Given the description of an element on the screen output the (x, y) to click on. 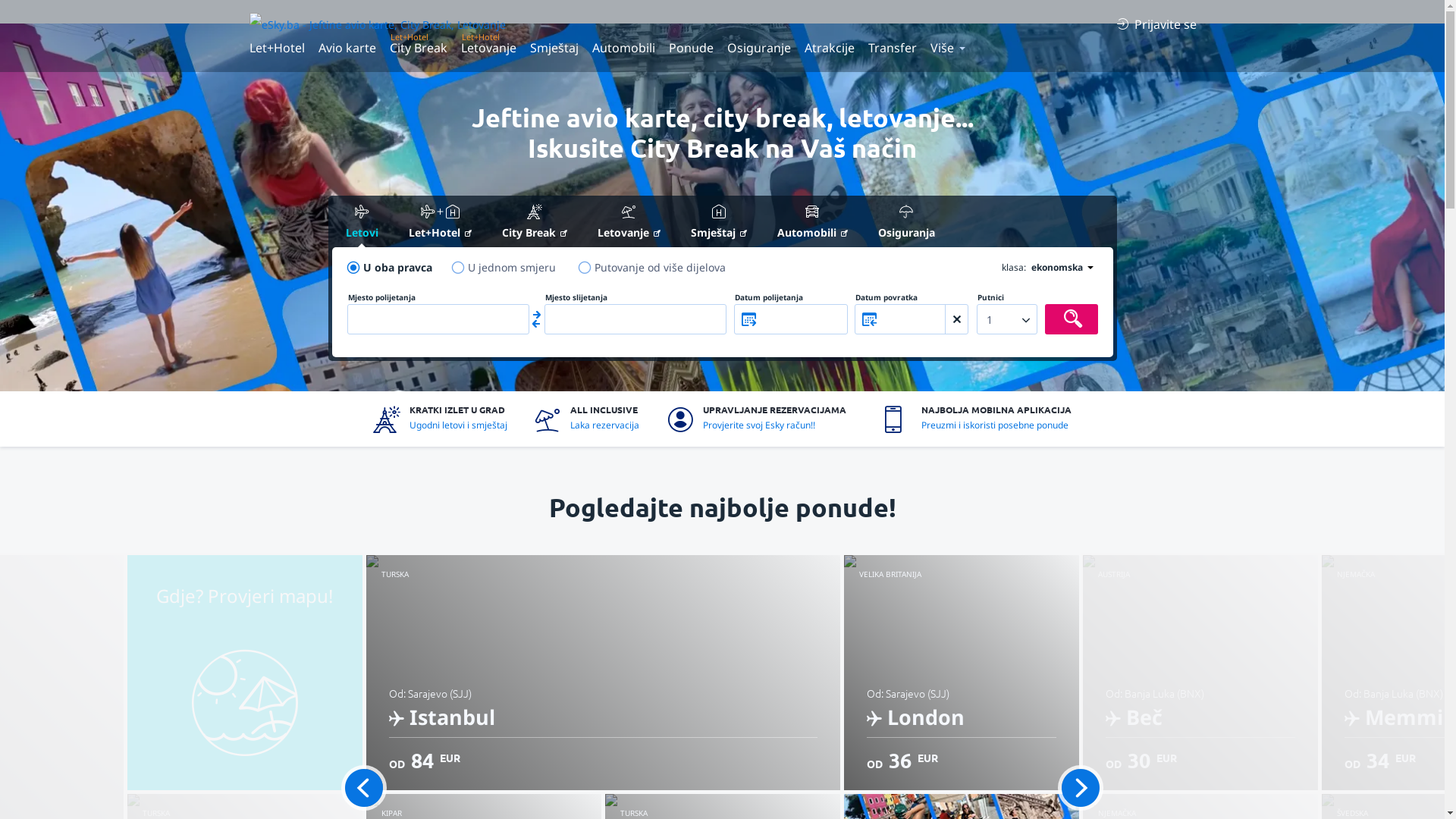
Ponude Element type: text (690, 47)
Let+Hotel Element type: text (439, 223)
Gdje? Provjeri mapu! Element type: text (244, 672)
Preuzmi i iskoristi posebne ponude Element type: text (994, 425)
TURSKA
od: Sarajevo (SJJ)
Istanbul
OD 84 EUR Element type: text (602, 672)
Automobili Element type: text (623, 47)
City Break Element type: text (534, 223)
Letovanje Element type: text (628, 223)
VELIKA BRITANIJA
od: Sarajevo (SJJ)
London
OD 36 EUR Element type: text (960, 672)
Osiguranja Element type: text (906, 222)
Letovi Element type: text (362, 222)
Letovanje Element type: text (487, 47)
Osiguranje Element type: text (758, 47)
Laka rezervacija Element type: text (604, 425)
Atrakcije Element type: text (829, 47)
Avio karte Element type: text (346, 47)
City Break Element type: text (417, 47)
Transfer Element type: text (892, 47)
Automobili Element type: text (811, 223)
Let+Hotel Element type: text (278, 47)
